Given the description of an element on the screen output the (x, y) to click on. 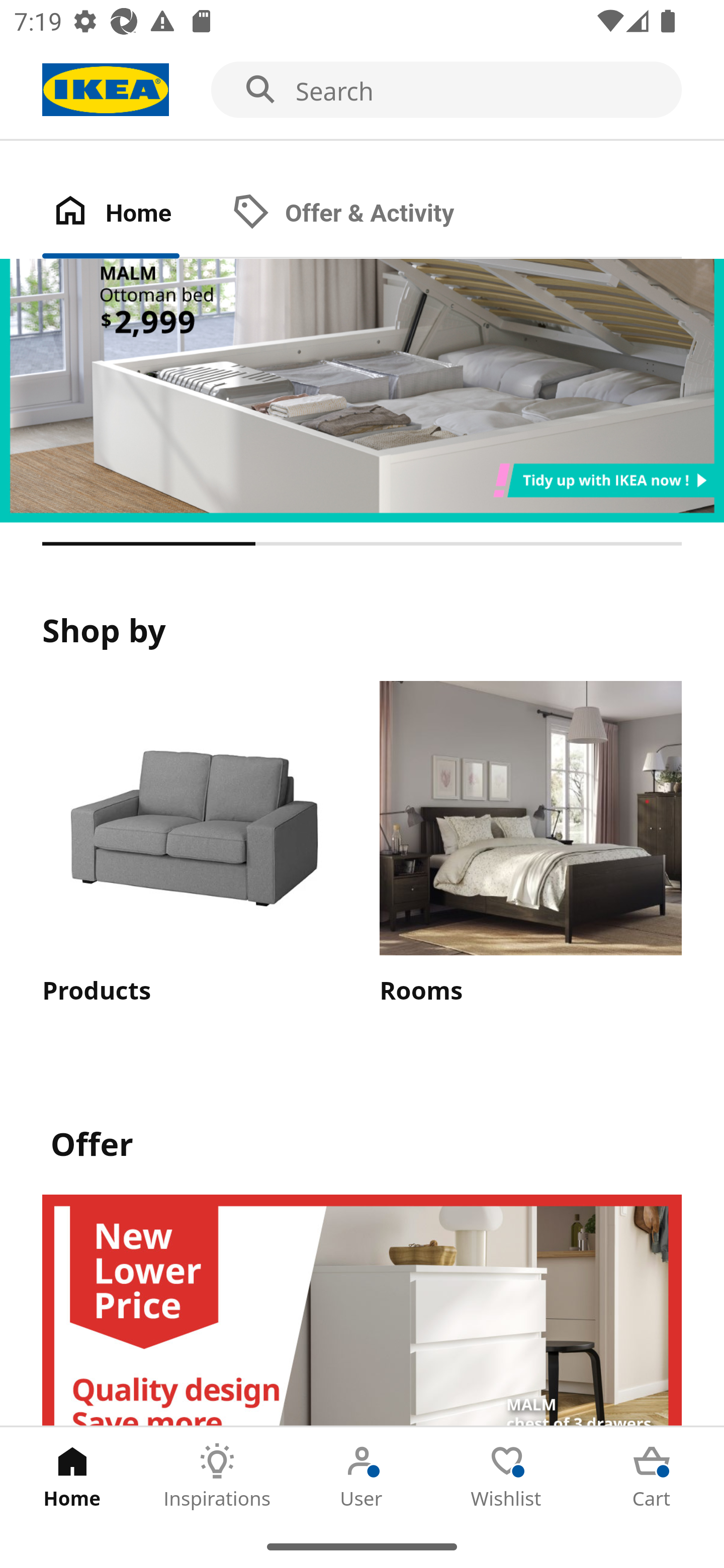
Search (361, 90)
Home
Tab 1 of 2 (131, 213)
Offer & Activity
Tab 2 of 2 (363, 213)
Products (192, 844)
Rooms (530, 844)
Home
Tab 1 of 5 (72, 1476)
Inspirations
Tab 2 of 5 (216, 1476)
User
Tab 3 of 5 (361, 1476)
Wishlist
Tab 4 of 5 (506, 1476)
Cart
Tab 5 of 5 (651, 1476)
